Given the description of an element on the screen output the (x, y) to click on. 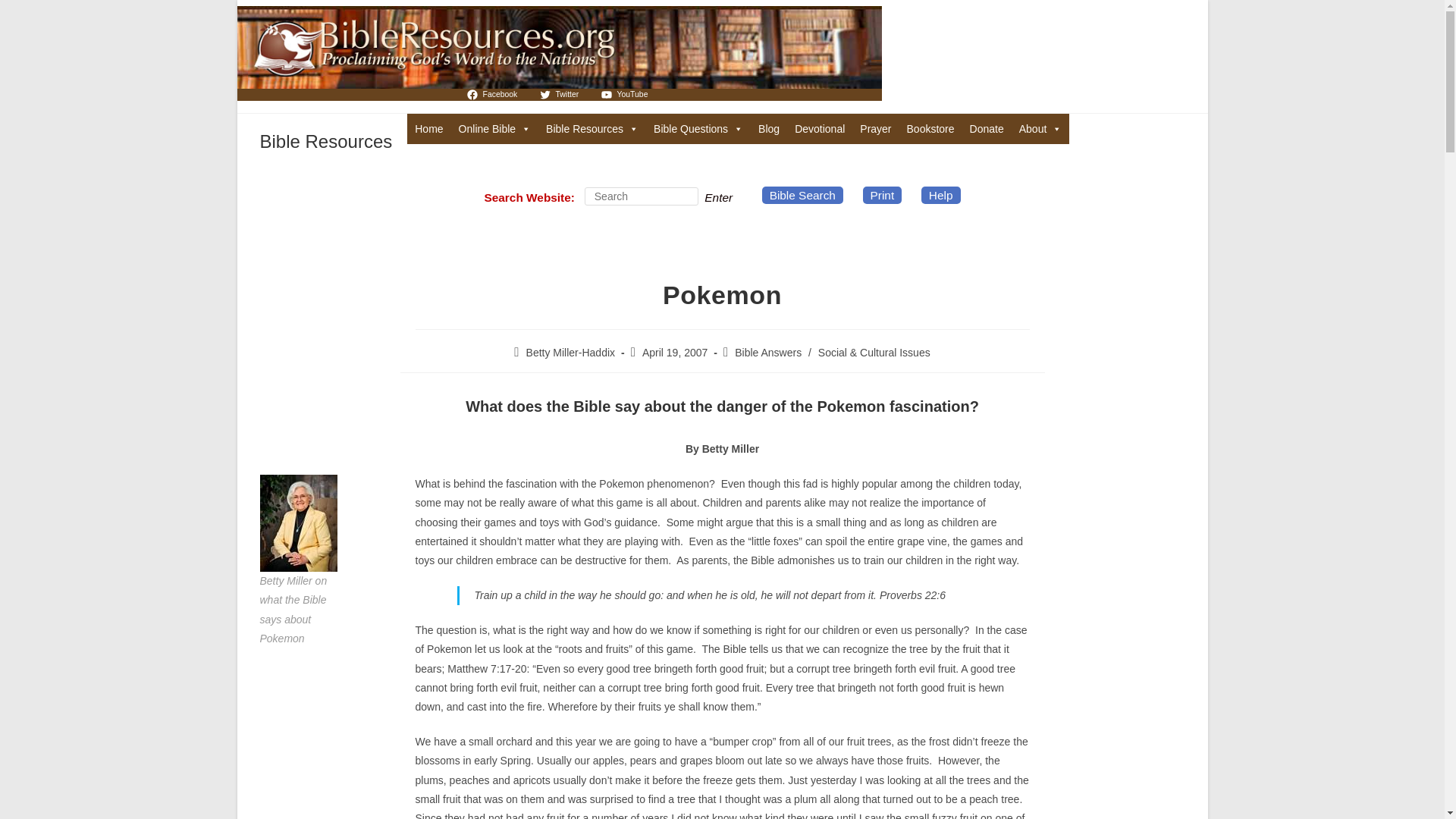
Bible Questions (698, 128)
Bible Resources (325, 141)
Bible Resources (592, 128)
Home (428, 128)
Bible Search in many Translations (494, 128)
YouTube (624, 94)
Bible Resources (592, 128)
Twitter (560, 94)
Facebook (493, 94)
Online Bible (494, 128)
